Given the description of an element on the screen output the (x, y) to click on. 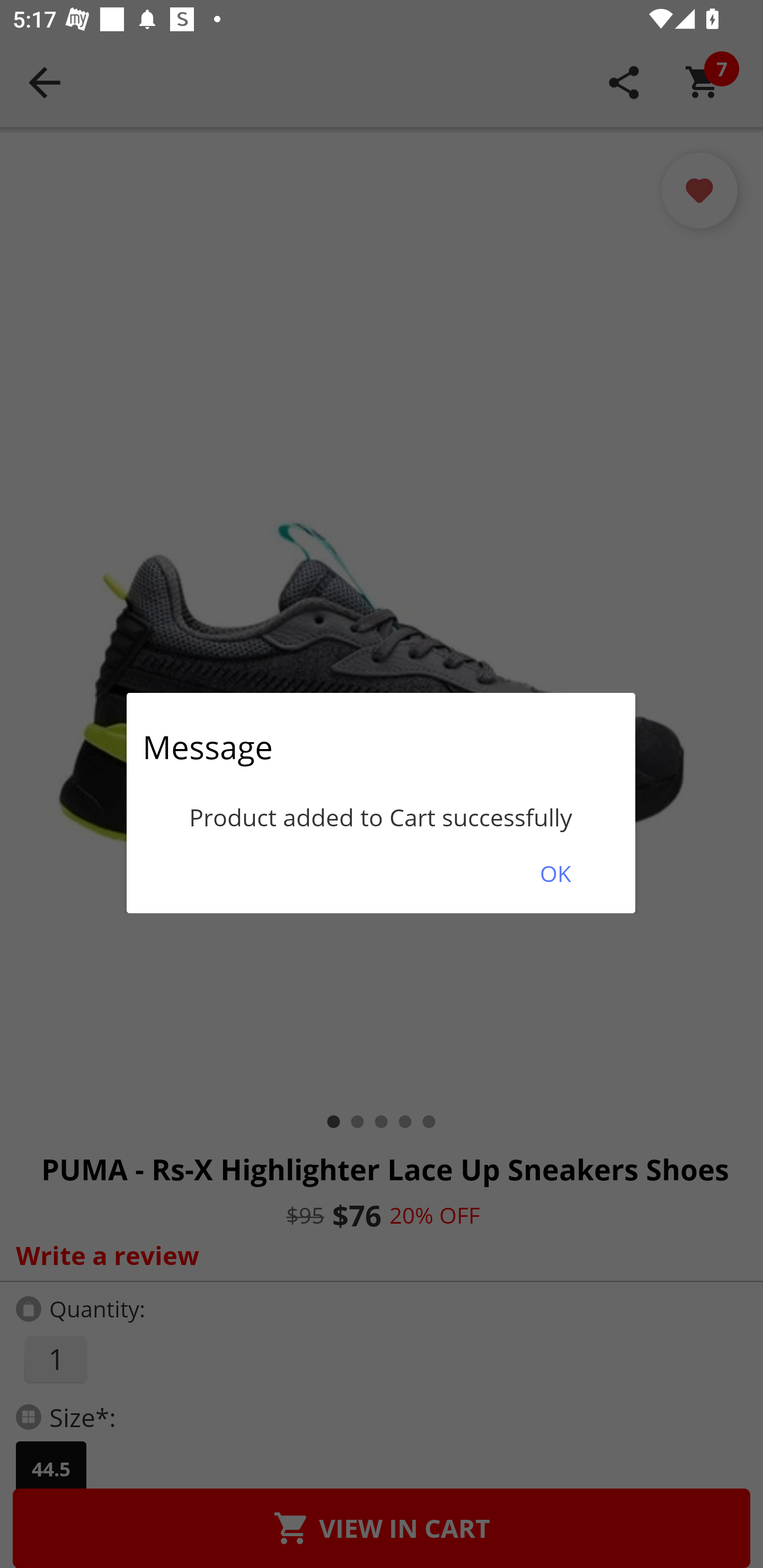
OK (555, 873)
